Given the description of an element on the screen output the (x, y) to click on. 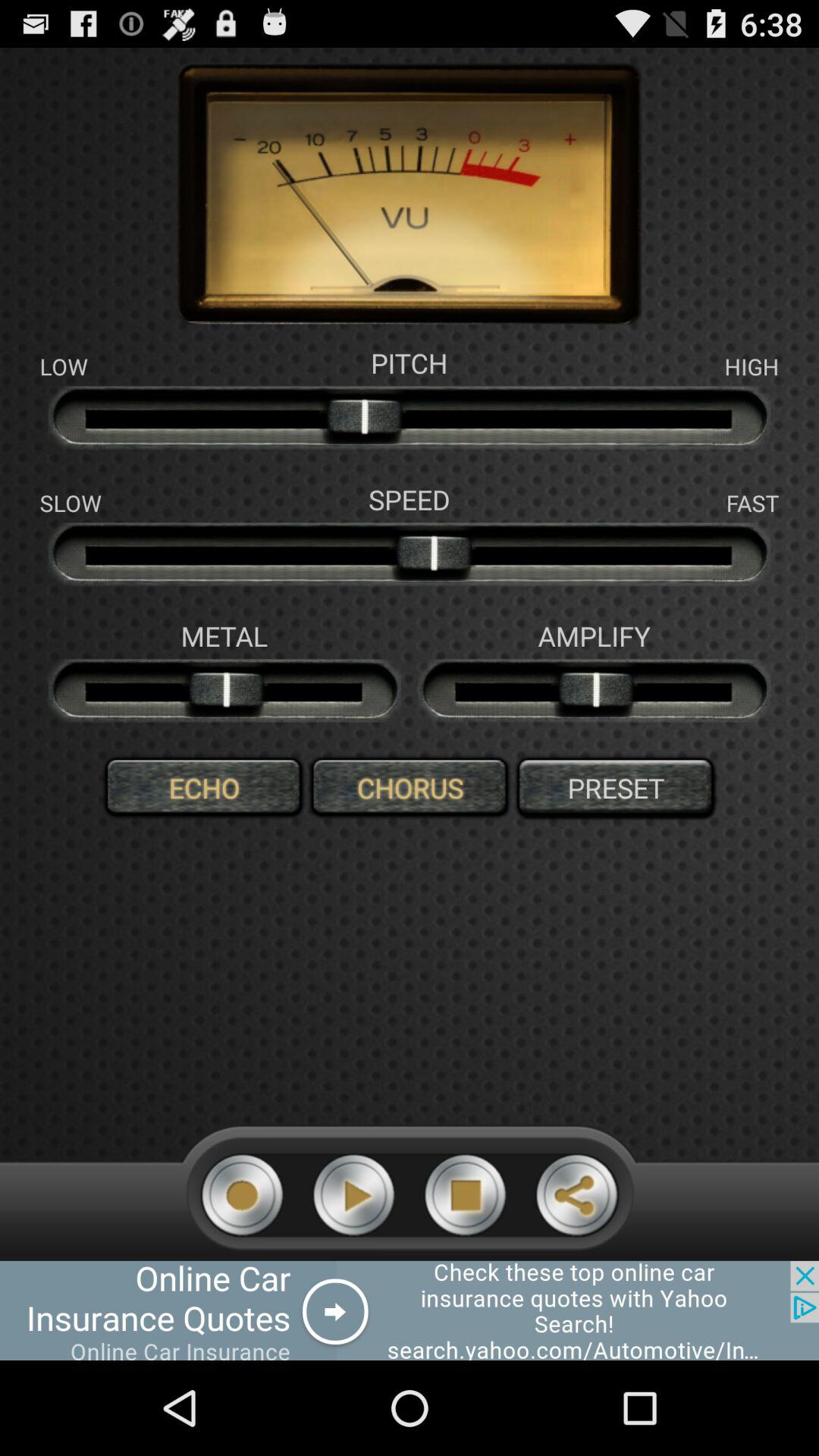
play button to start music (353, 1195)
